Given the description of an element on the screen output the (x, y) to click on. 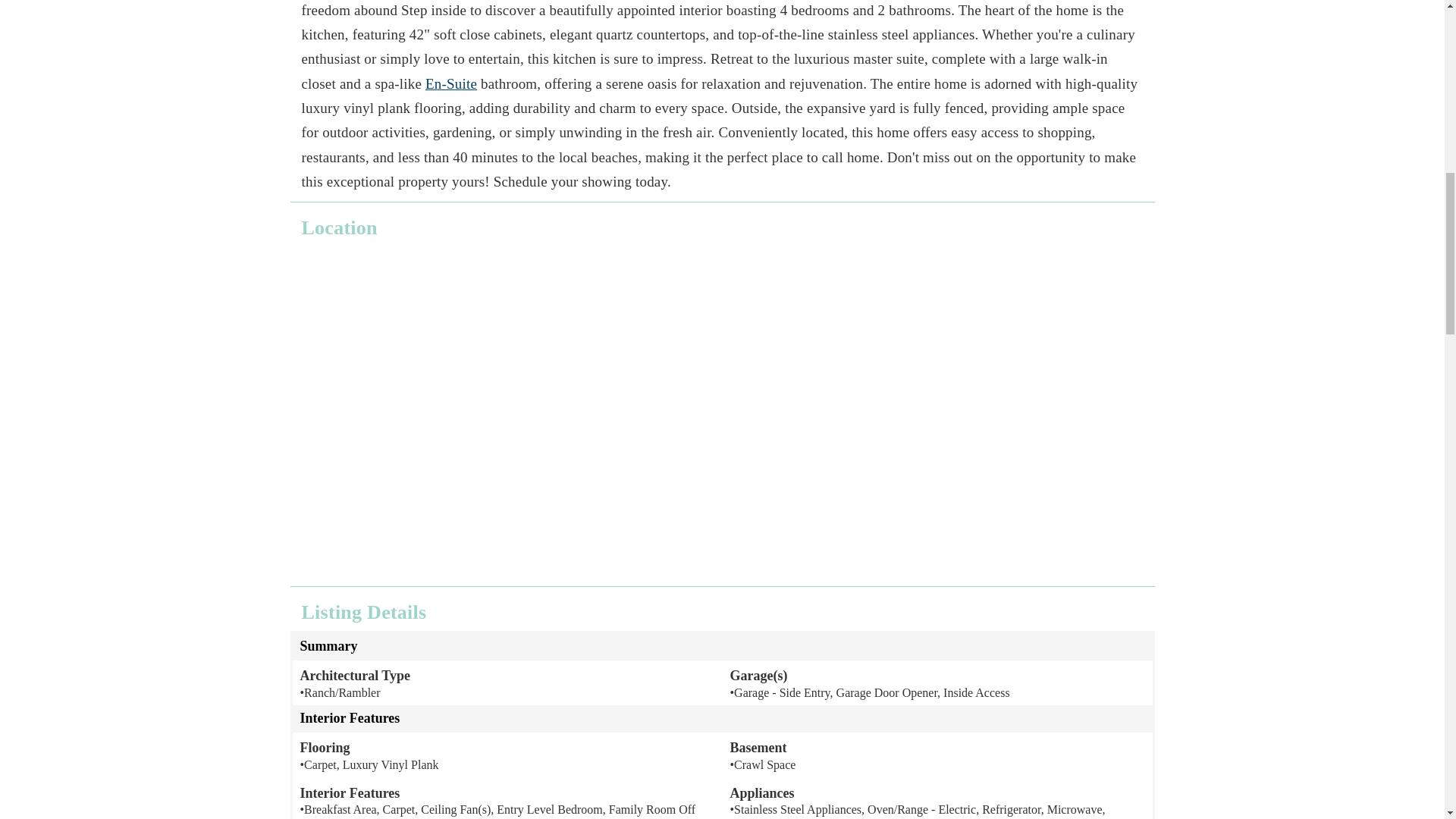
A private bath attached to the master bedroom  (451, 83)
